Given the description of an element on the screen output the (x, y) to click on. 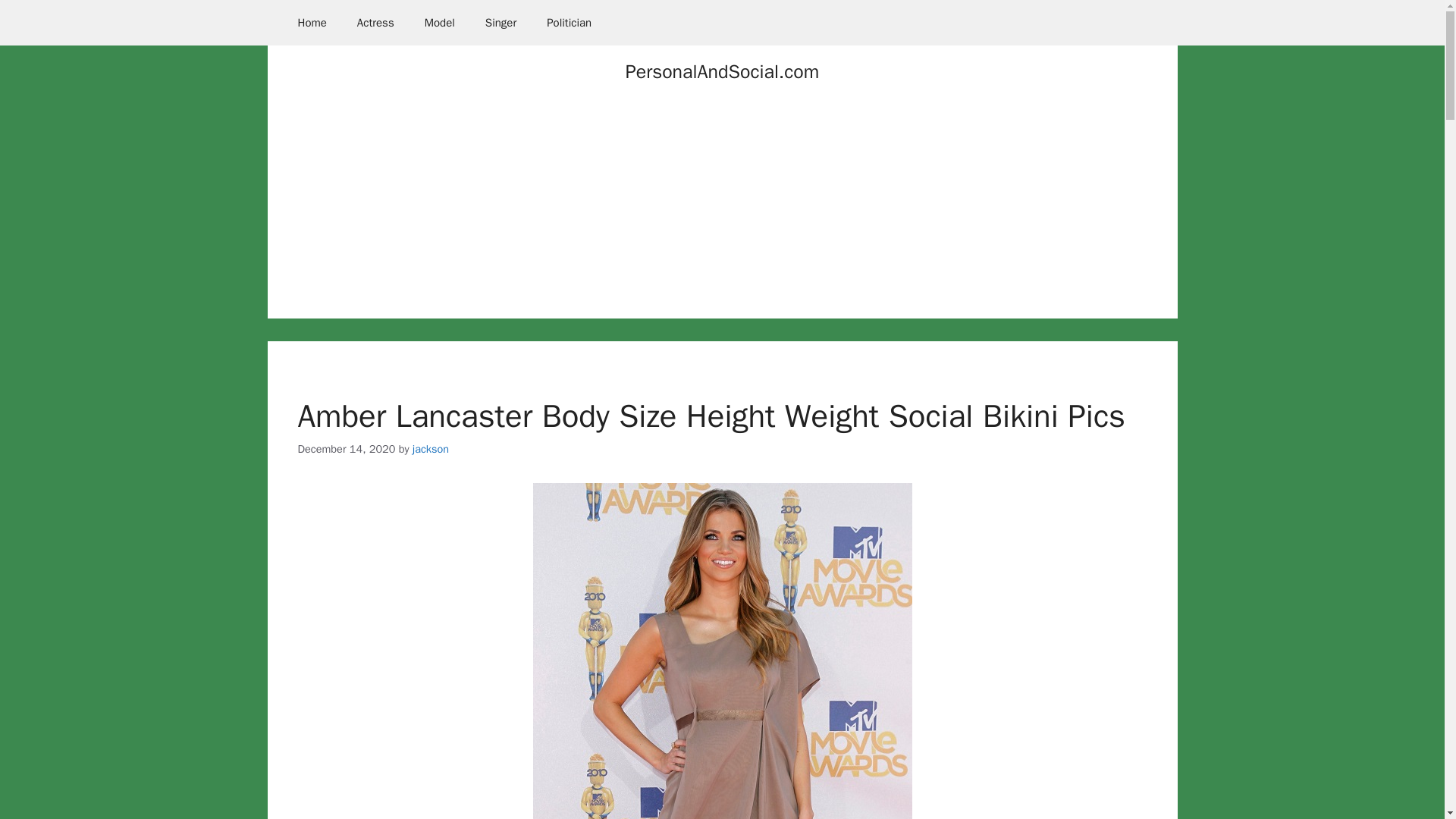
Actress (375, 22)
jackson (430, 448)
PersonalAndSocial.com (722, 71)
Home (311, 22)
Singer (500, 22)
Politician (569, 22)
Model (439, 22)
Advertisement (722, 212)
View all posts by jackson (430, 448)
